Given the description of an element on the screen output the (x, y) to click on. 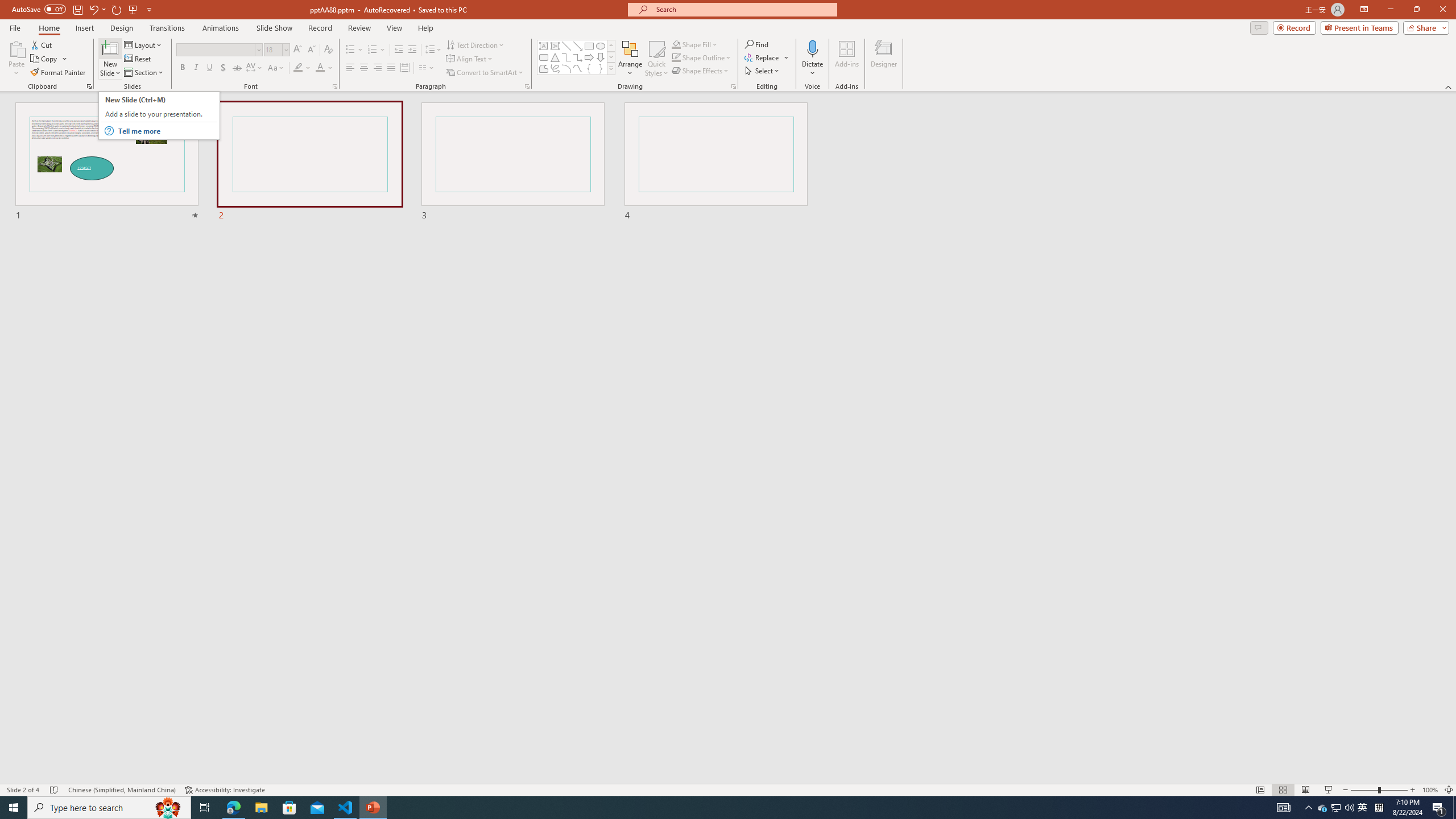
Text Box (543, 45)
Animations (220, 28)
Font Color Red (320, 67)
Record (1294, 27)
Insert (83, 28)
AutomationID: ShapesInsertGallery (576, 57)
Restore Down (1416, 9)
Replace... (767, 56)
Change Case (276, 67)
Transitions (167, 28)
Paste (16, 48)
Line (566, 45)
Design (122, 28)
Zoom (1379, 790)
Undo (92, 9)
